Given the description of an element on the screen output the (x, y) to click on. 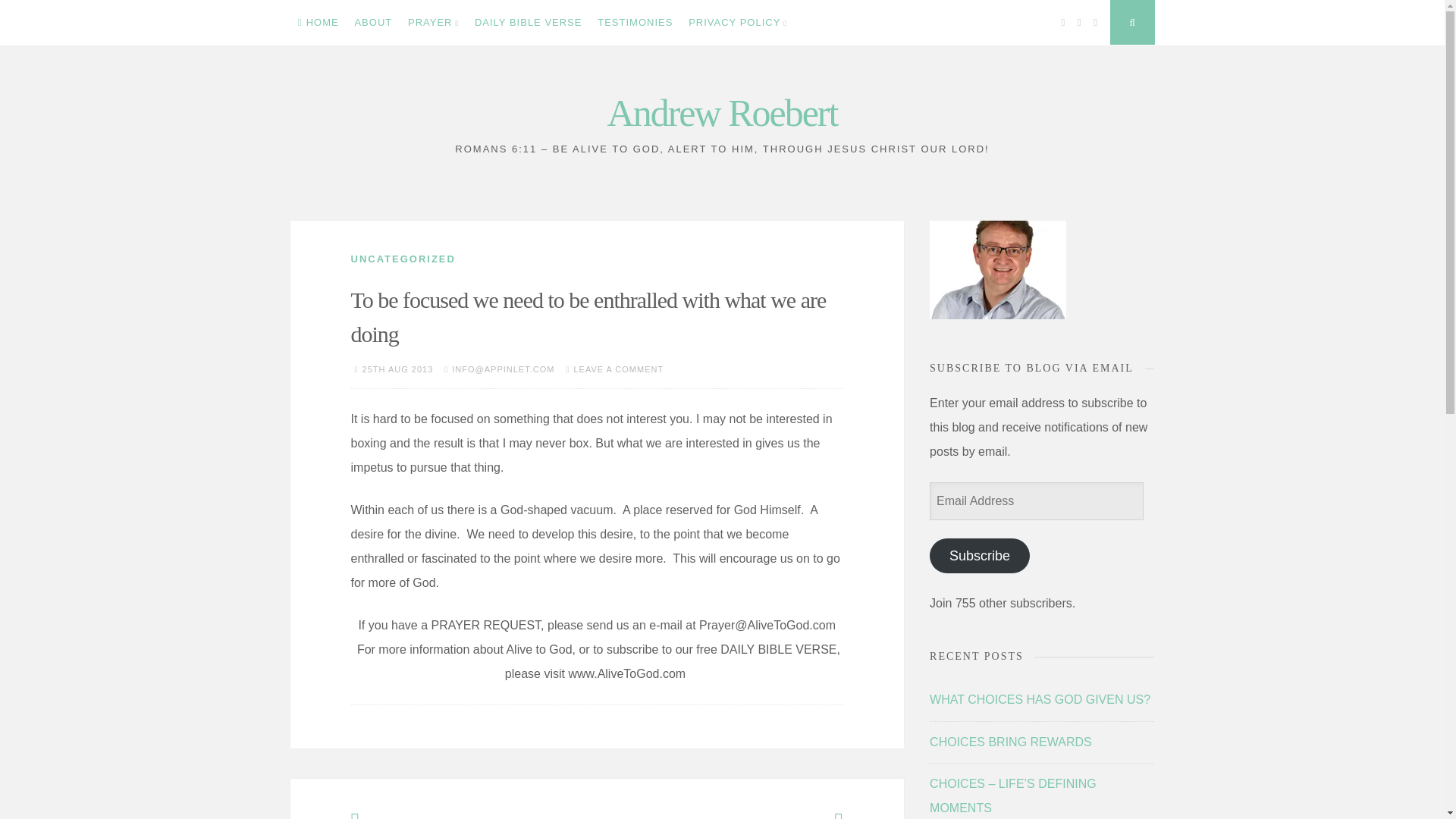
Subscribe (979, 555)
Andrew Roebert (722, 112)
DAILY BIBLE VERSE (528, 22)
HOME (317, 22)
TESTIMONIES (635, 22)
WHAT CHOICES HAS GOD GIVEN US? (1040, 698)
25TH AUG 2013 (397, 368)
PRAYER (433, 22)
PRIVACY POLICY (737, 22)
